Given the description of an element on the screen output the (x, y) to click on. 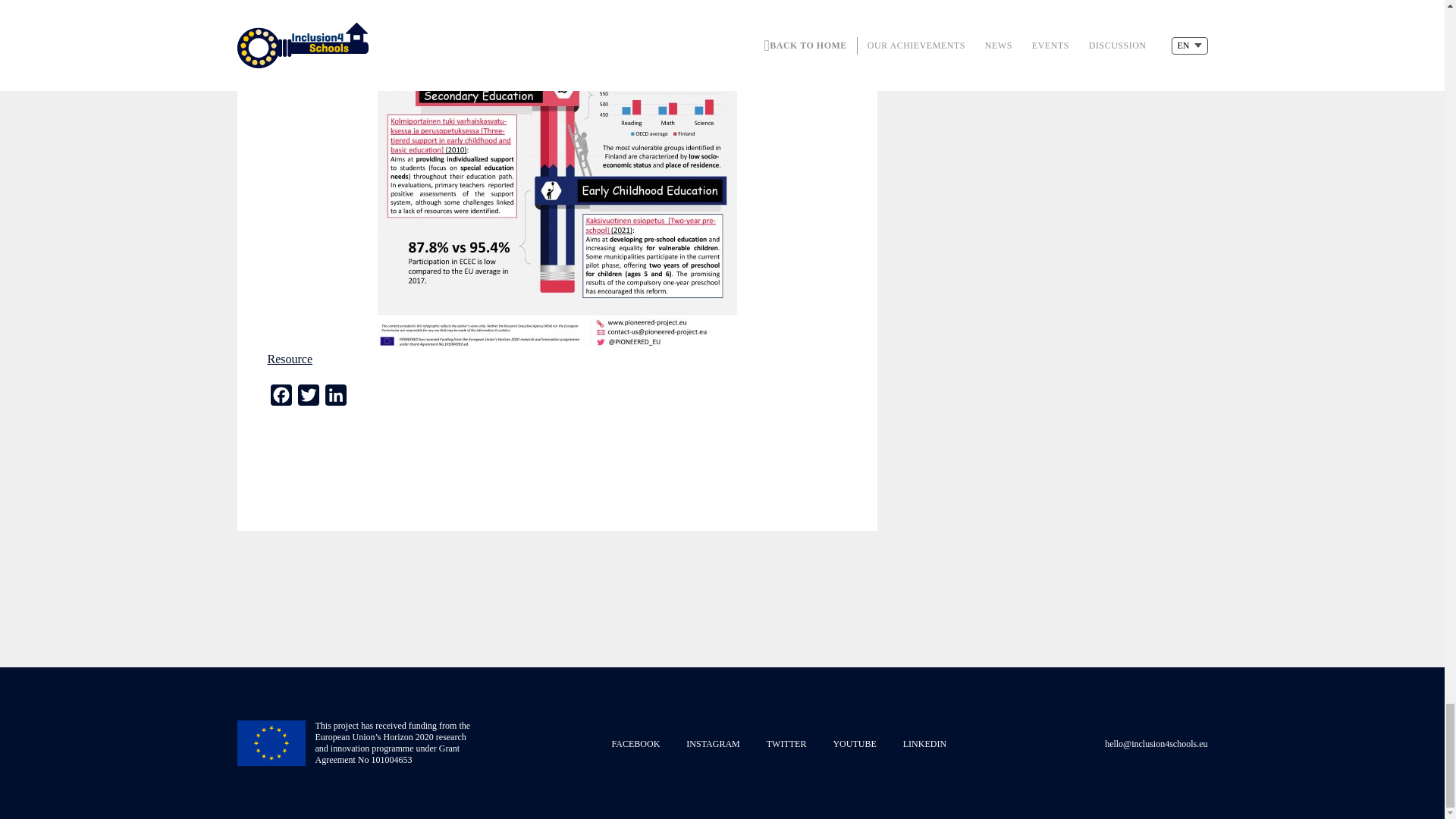
Facebook (280, 398)
LINKEDIN (924, 743)
TWITTER (786, 743)
FACEBOOK (636, 743)
LinkedIn (335, 398)
INSTAGRAM (712, 743)
LinkedIn (335, 398)
Facebook (280, 398)
YOUTUBE (854, 743)
Twitter (307, 398)
Twitter (307, 398)
Resource (289, 358)
